Given the description of an element on the screen output the (x, y) to click on. 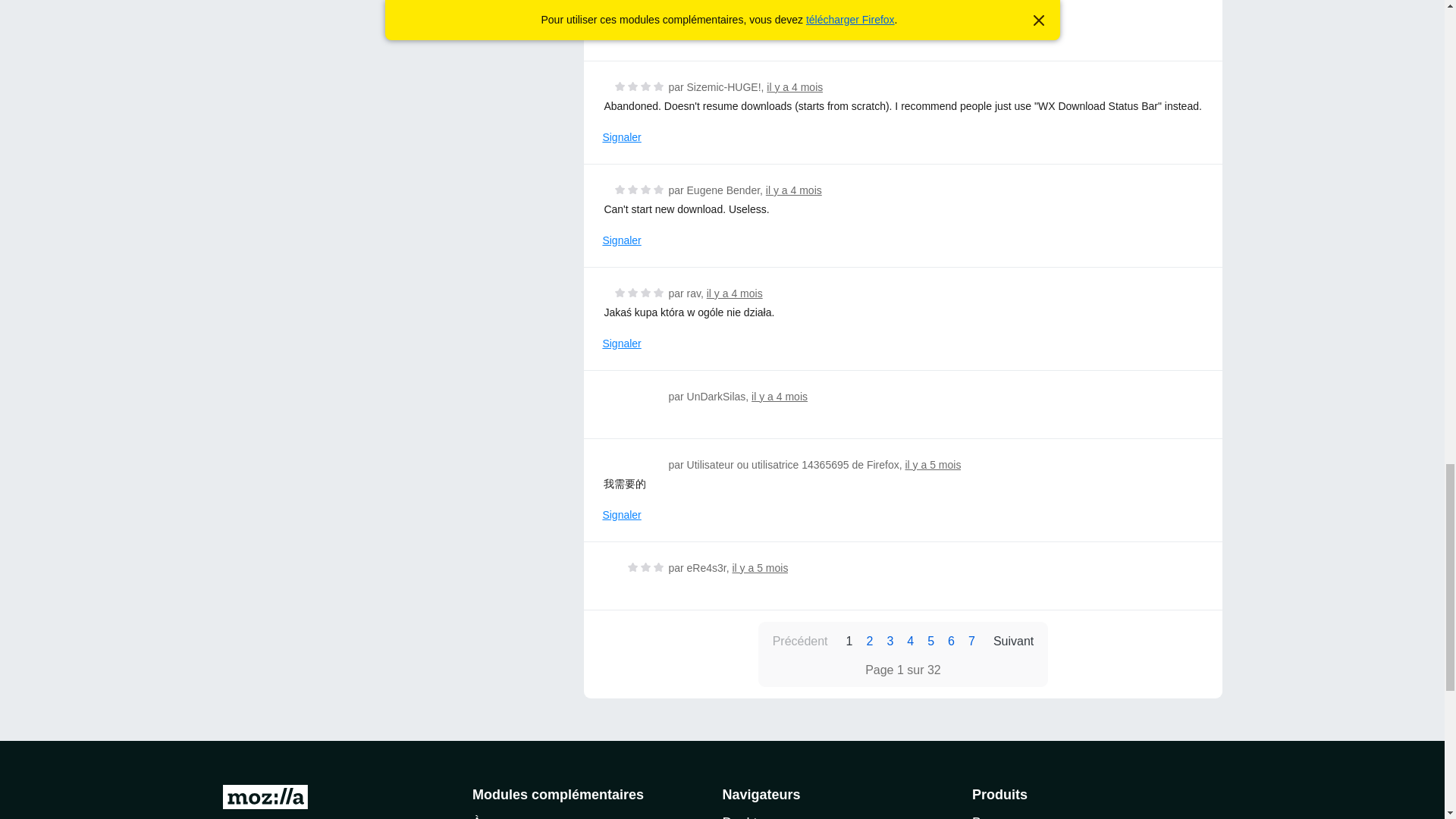
il y a 4 mois (794, 19)
